Given the description of an element on the screen output the (x, y) to click on. 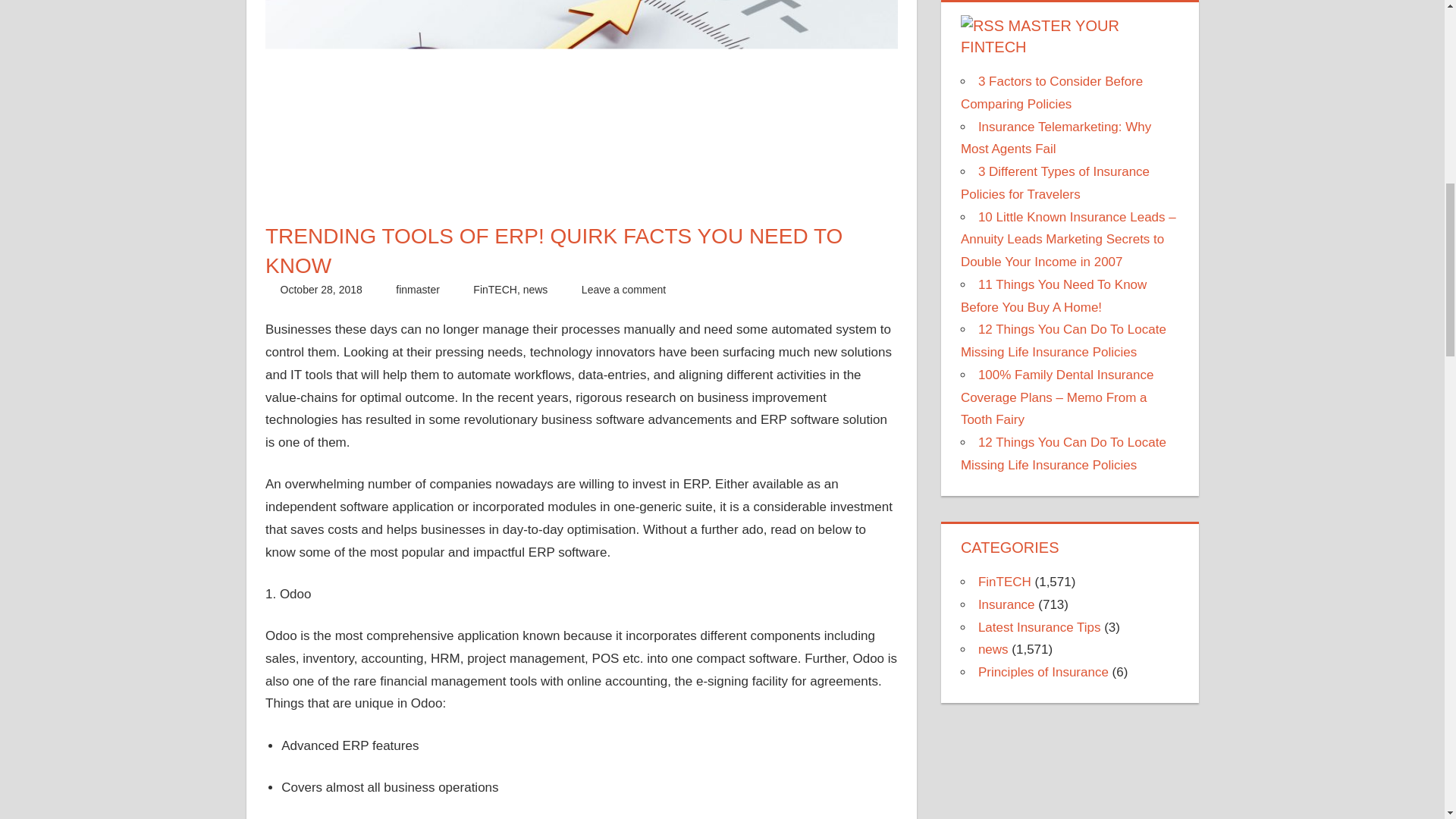
View all posts by finmaster (417, 289)
Insurance (1006, 604)
11 Things You Need To Know Before You Buy A Home! (1053, 295)
9:06 pm (321, 289)
MASTER YOUR FINTECH (1039, 36)
finmaster (417, 289)
Insurance Telemarketing: Why Most Agents Fail (1055, 138)
news (535, 289)
FinTECH (1004, 581)
